Given the description of an element on the screen output the (x, y) to click on. 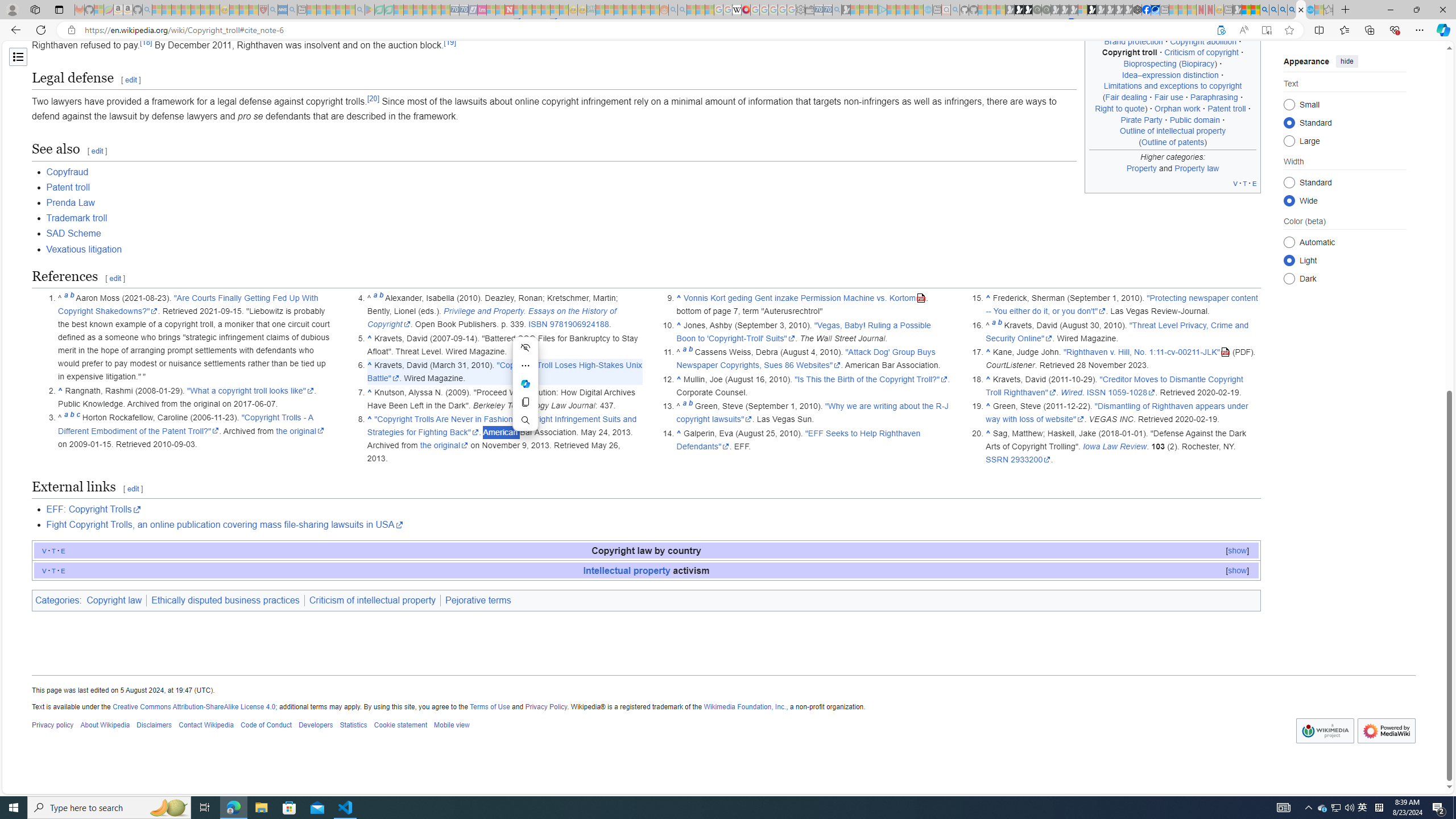
Mini menu on text selection (525, 383)
Creative Commons Attribution-ShareAlike License 4.0 (193, 706)
Copyfraud (653, 171)
Terms of Use (488, 706)
Copyright law (113, 600)
Orphan work (1177, 108)
Paraphrasing (1214, 97)
Prenda Law (70, 202)
Code of Conduct (265, 725)
Settings - Sleeping (799, 9)
